Given the description of an element on the screen output the (x, y) to click on. 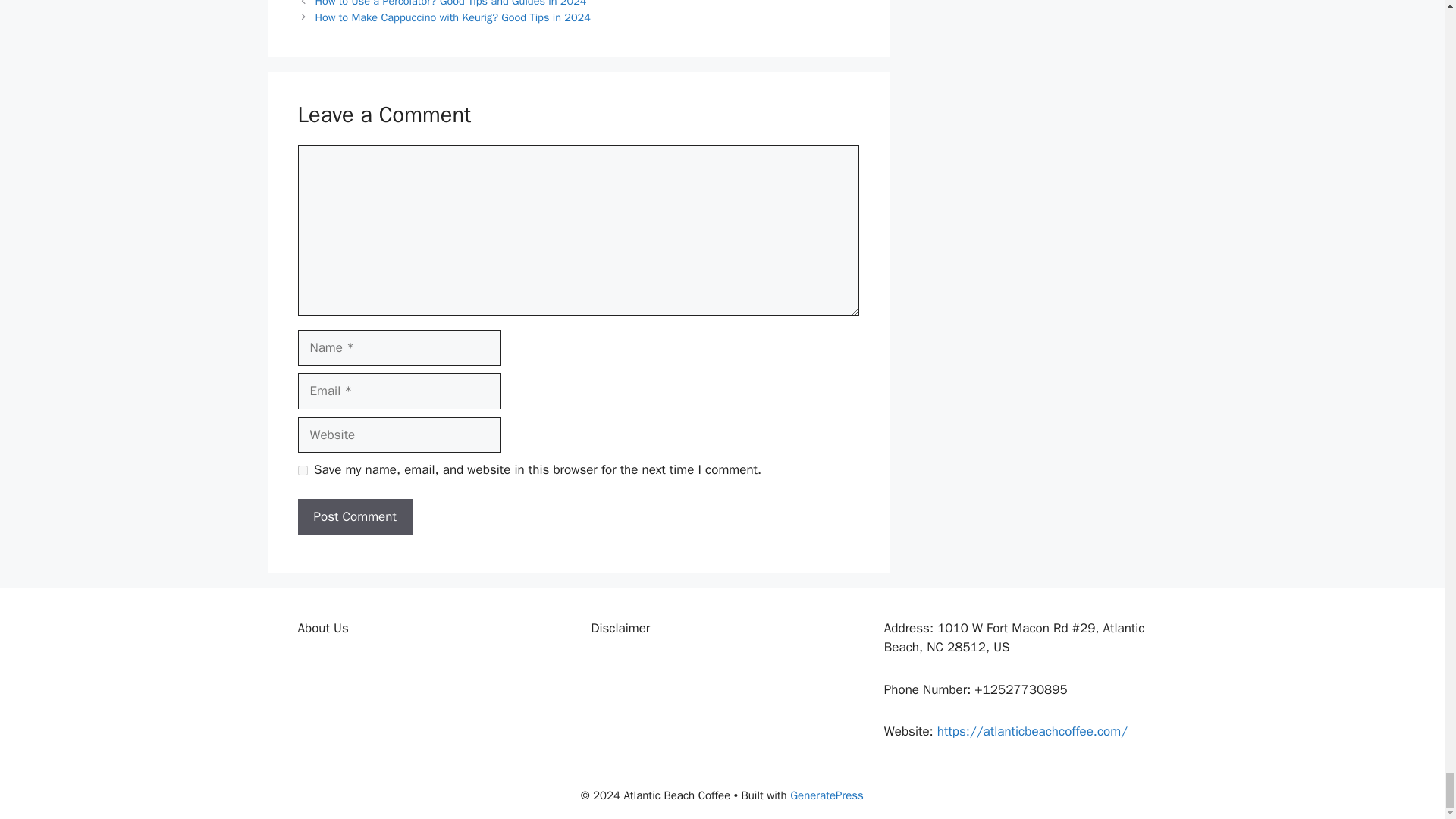
Post Comment (354, 516)
Post Comment (354, 516)
yes (302, 470)
How to Use a Percolator? Good Tips and Guides in 2024 (450, 3)
How to Make Cappuccino with Keurig? Good Tips in 2024 (453, 17)
